Given the description of an element on the screen output the (x, y) to click on. 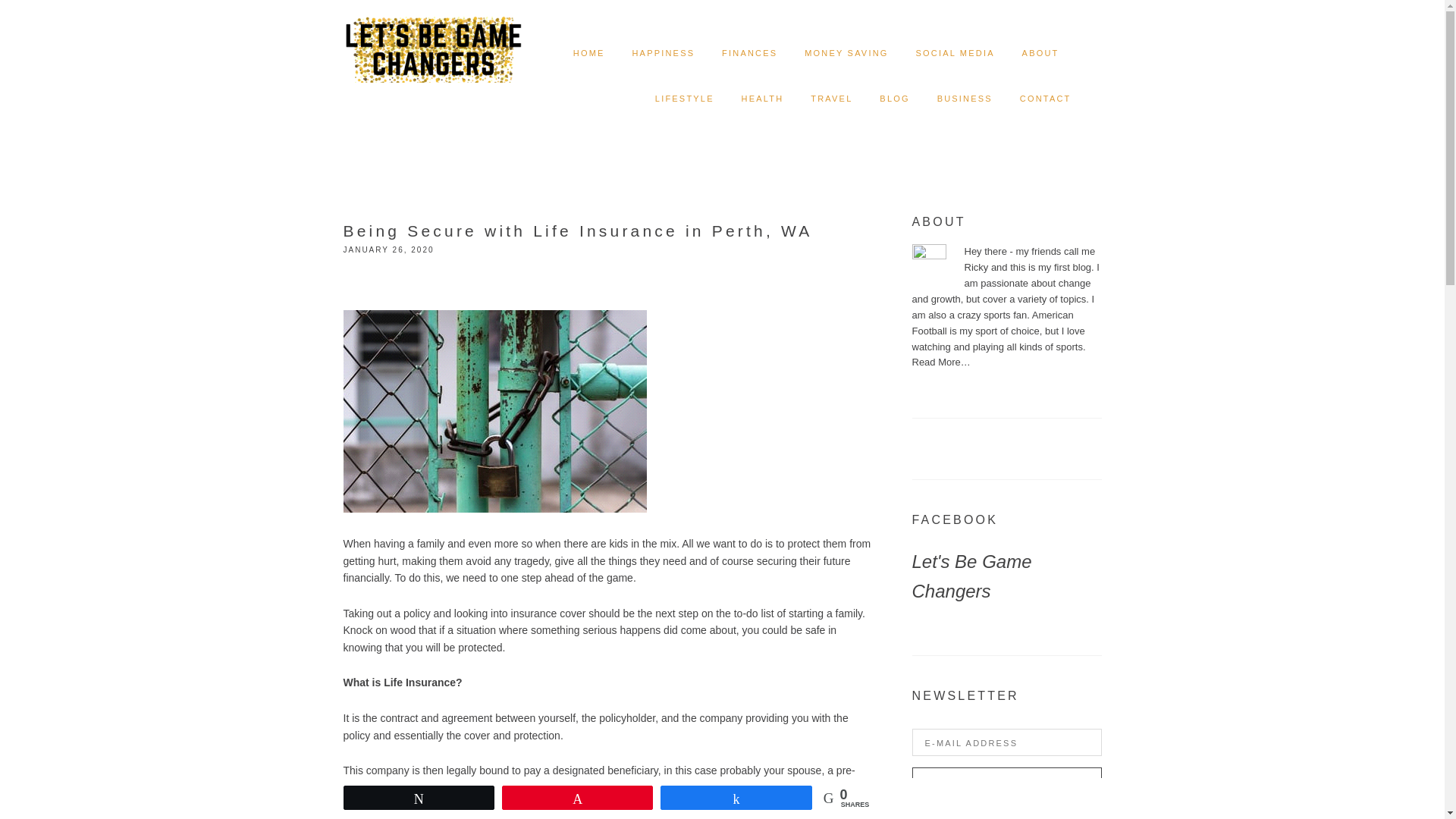
Let's Be Game Changers (970, 576)
HEALTH (762, 98)
LIFESTYLE (684, 98)
TRAVEL (830, 98)
FINANCES (749, 53)
Go (1005, 783)
LET'S BE GAME CHANGERS (432, 37)
BUSINESS (964, 98)
HAPPINESS (662, 53)
Go (1005, 783)
